Given the description of an element on the screen output the (x, y) to click on. 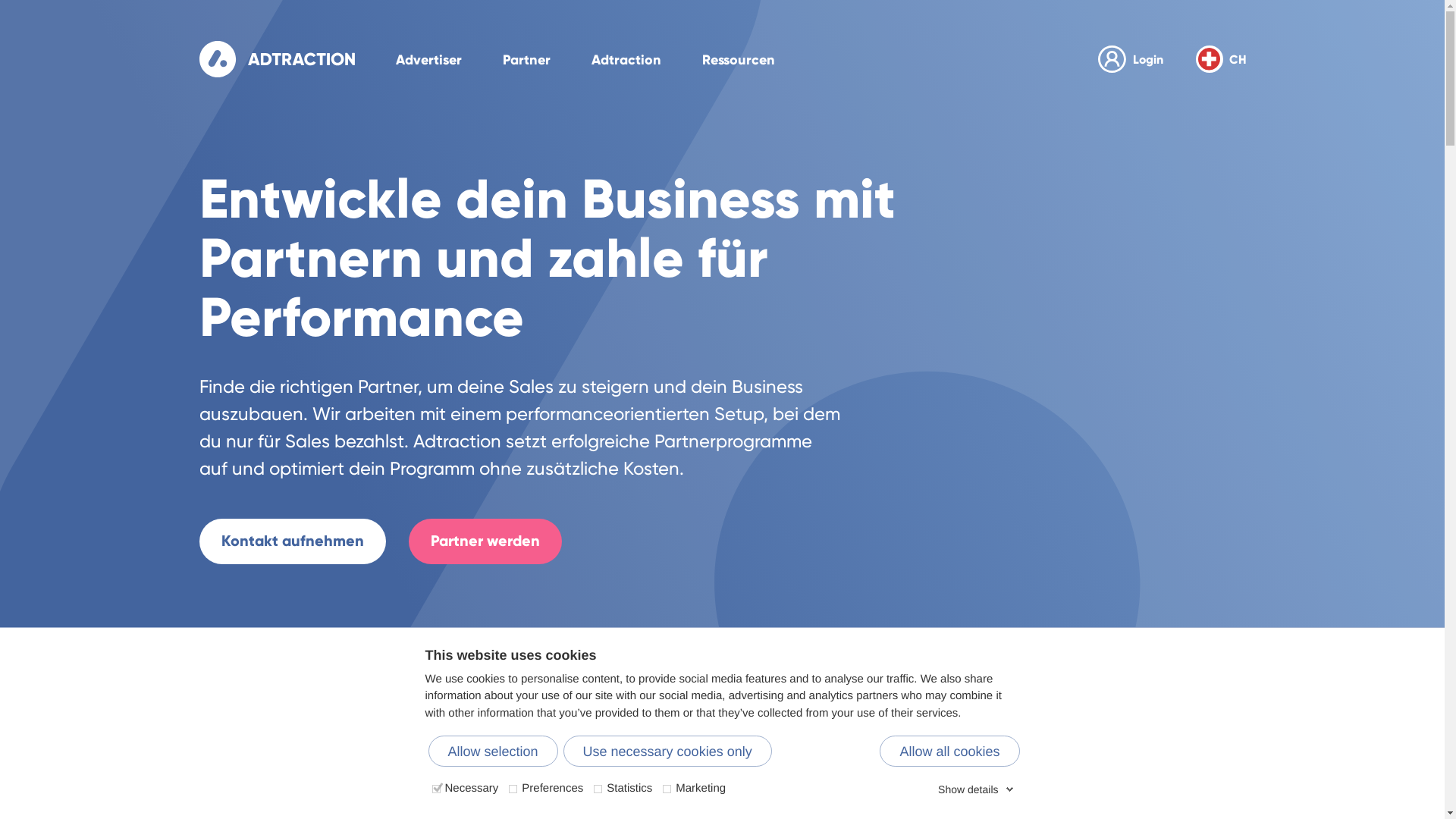
Partner Element type: text (525, 58)
Adtraction Element type: text (626, 58)
Kontakt aufnehmen Element type: text (291, 541)
Allow selection Element type: text (492, 750)
Allow all cookies Element type: text (949, 750)
Show details Element type: text (975, 789)
Use necessary cookies only Element type: text (667, 750)
Ressourcen Element type: text (738, 58)
Partner werden Element type: text (484, 541)
Login Element type: text (1130, 59)
Advertiser Element type: text (428, 58)
